Given the description of an element on the screen output the (x, y) to click on. 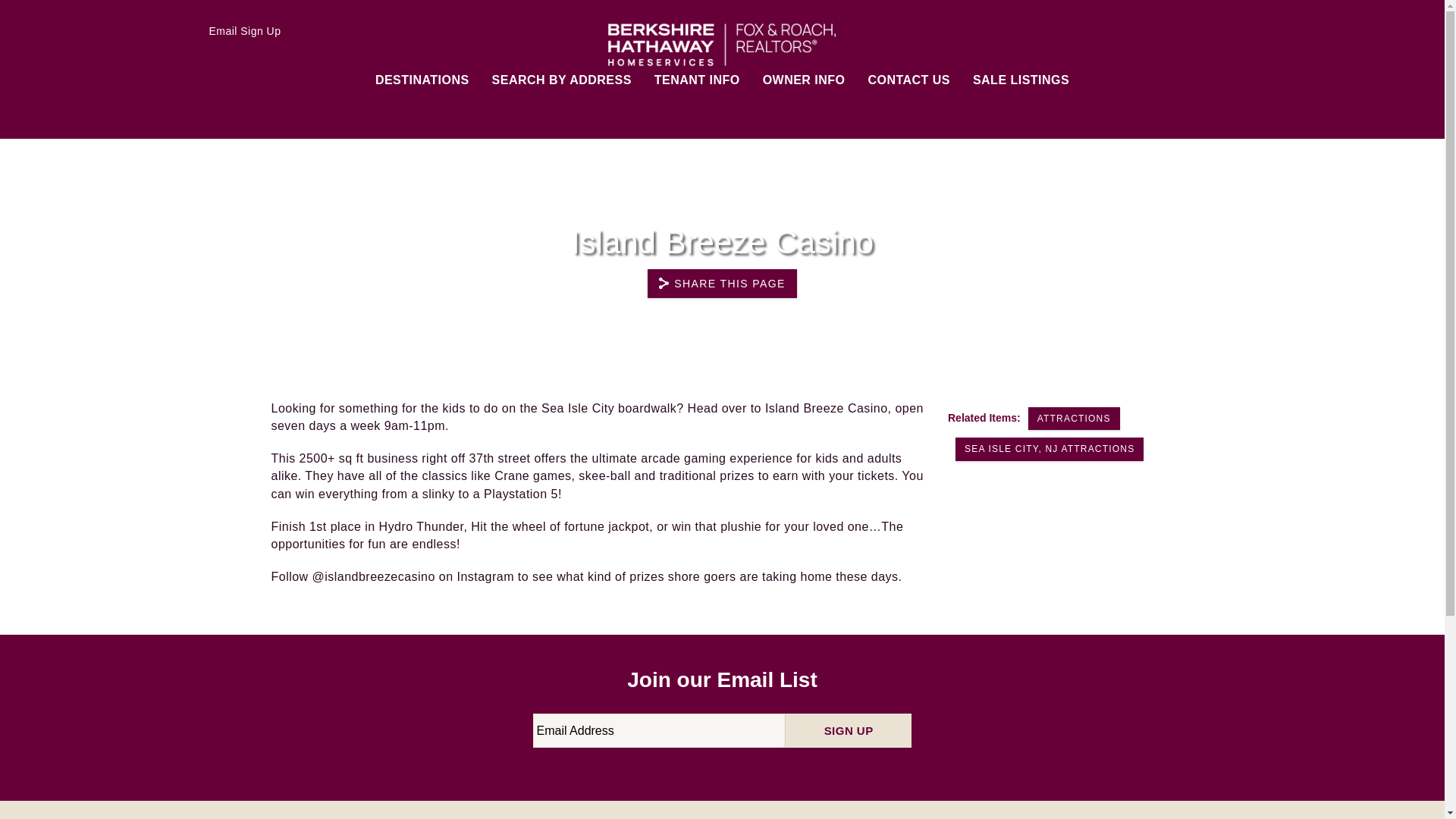
Email Sign Up (236, 30)
DESTINATIONS (422, 81)
Home (721, 33)
Home (684, 87)
